Given the description of an element on the screen output the (x, y) to click on. 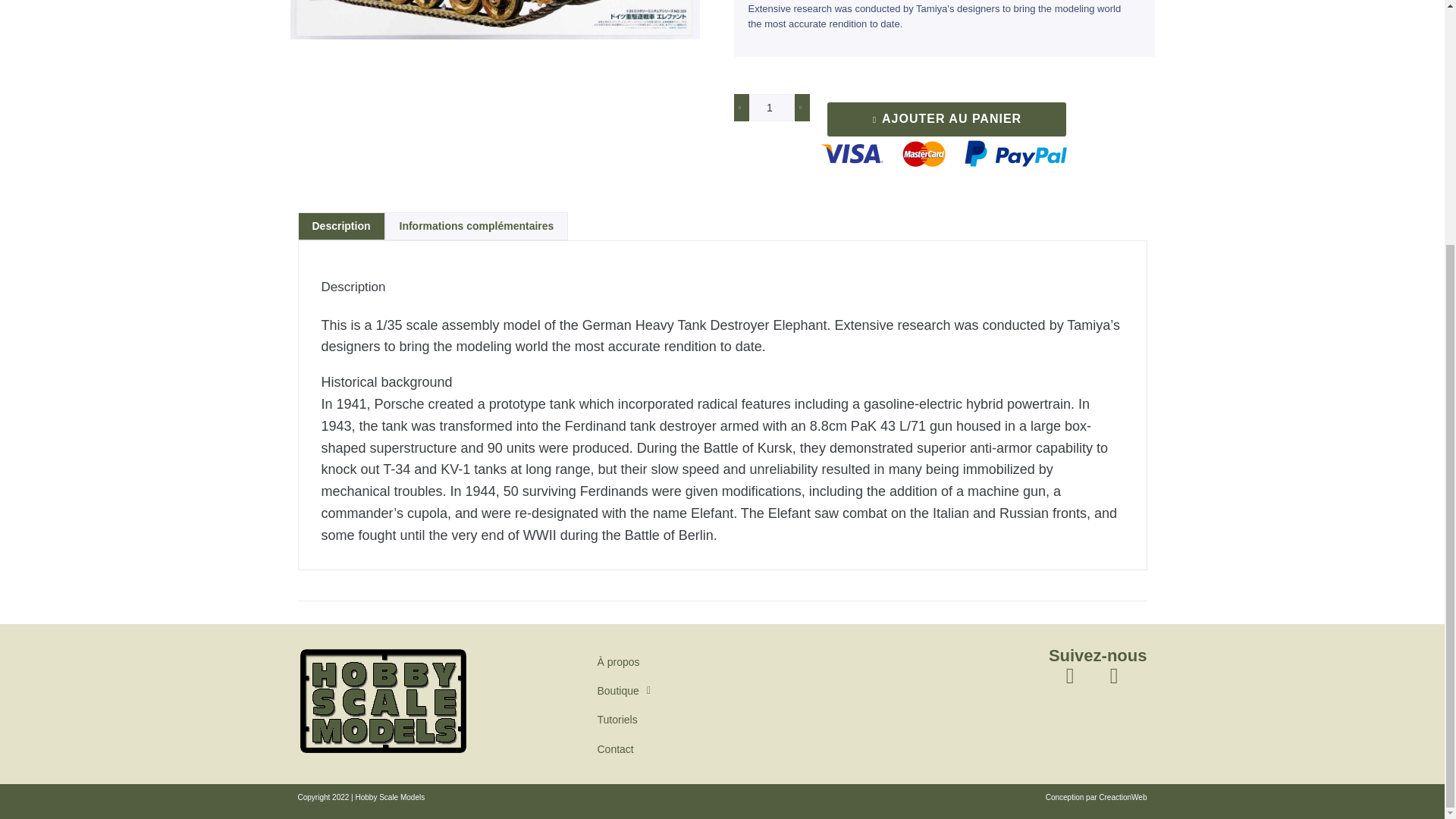
Description (341, 225)
AJOUTER AU PANIER (946, 119)
35325 (493, 19)
CreactionWeb (1123, 797)
Contact (623, 748)
1 (771, 107)
Tutoriels (623, 719)
Boutique (623, 690)
payment-HSM (944, 155)
